Given the description of an element on the screen output the (x, y) to click on. 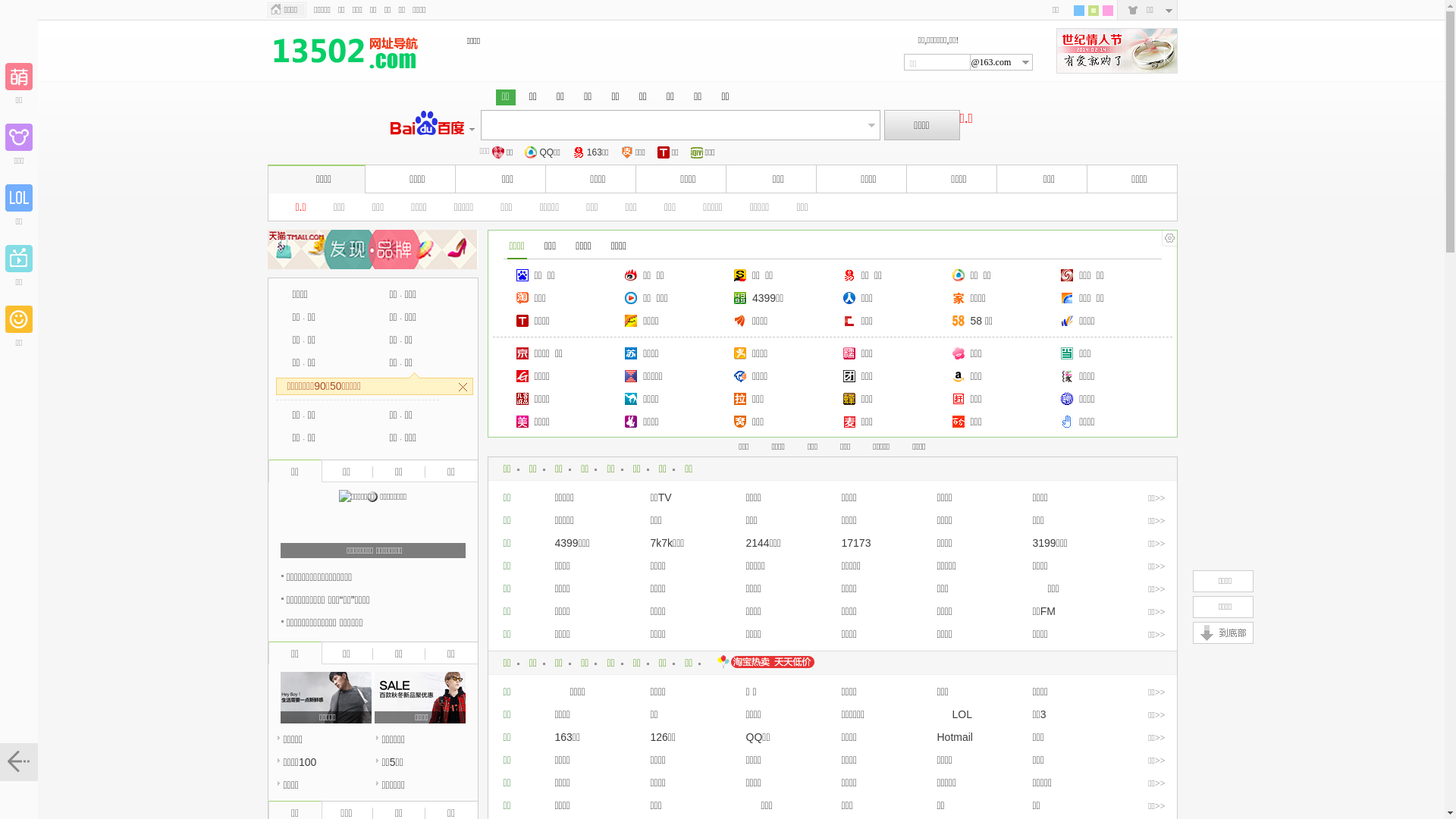
Hotmail Element type: text (954, 737)
17173 Element type: text (856, 542)
LOL Element type: text (954, 714)
